Given the description of an element on the screen output the (x, y) to click on. 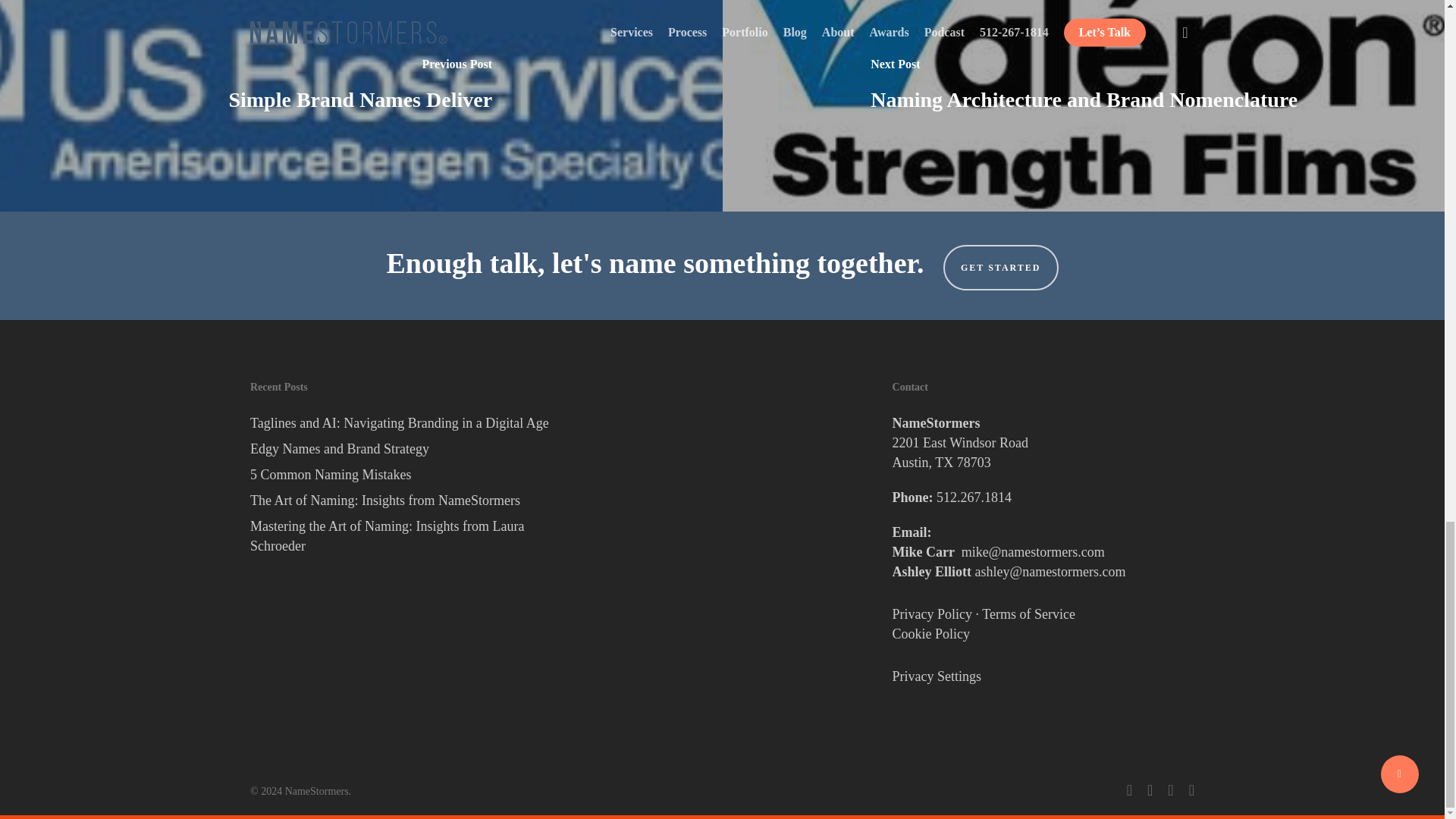
Taglines and AI: Navigating Branding in a Digital Age (400, 423)
GET STARTED (1000, 267)
Edgy Names and Brand Strategy (400, 448)
